Given the description of an element on the screen output the (x, y) to click on. 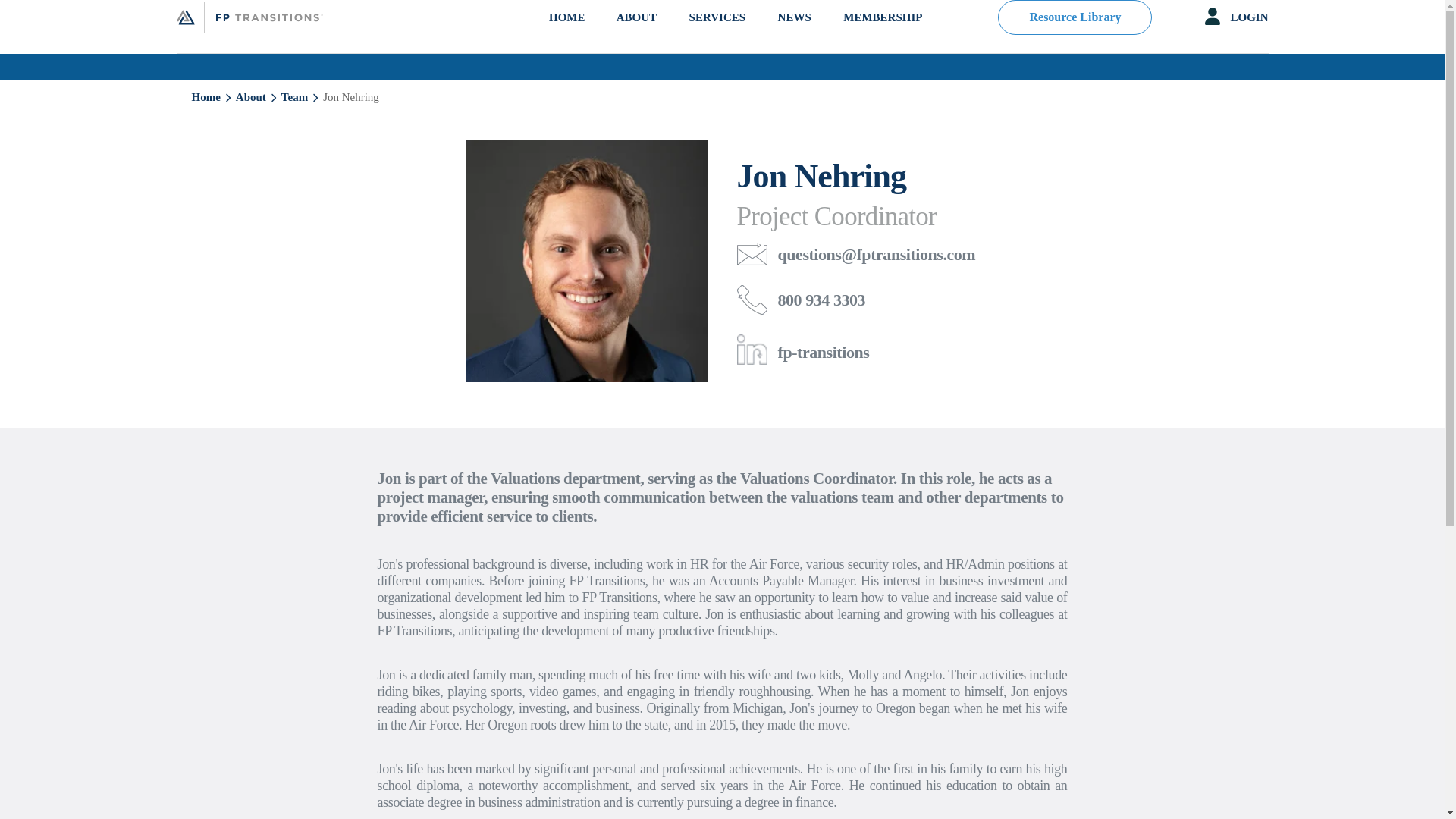
SERVICES (716, 31)
ABOUT (635, 31)
MEMBERSHIP (882, 31)
